Given the description of an element on the screen output the (x, y) to click on. 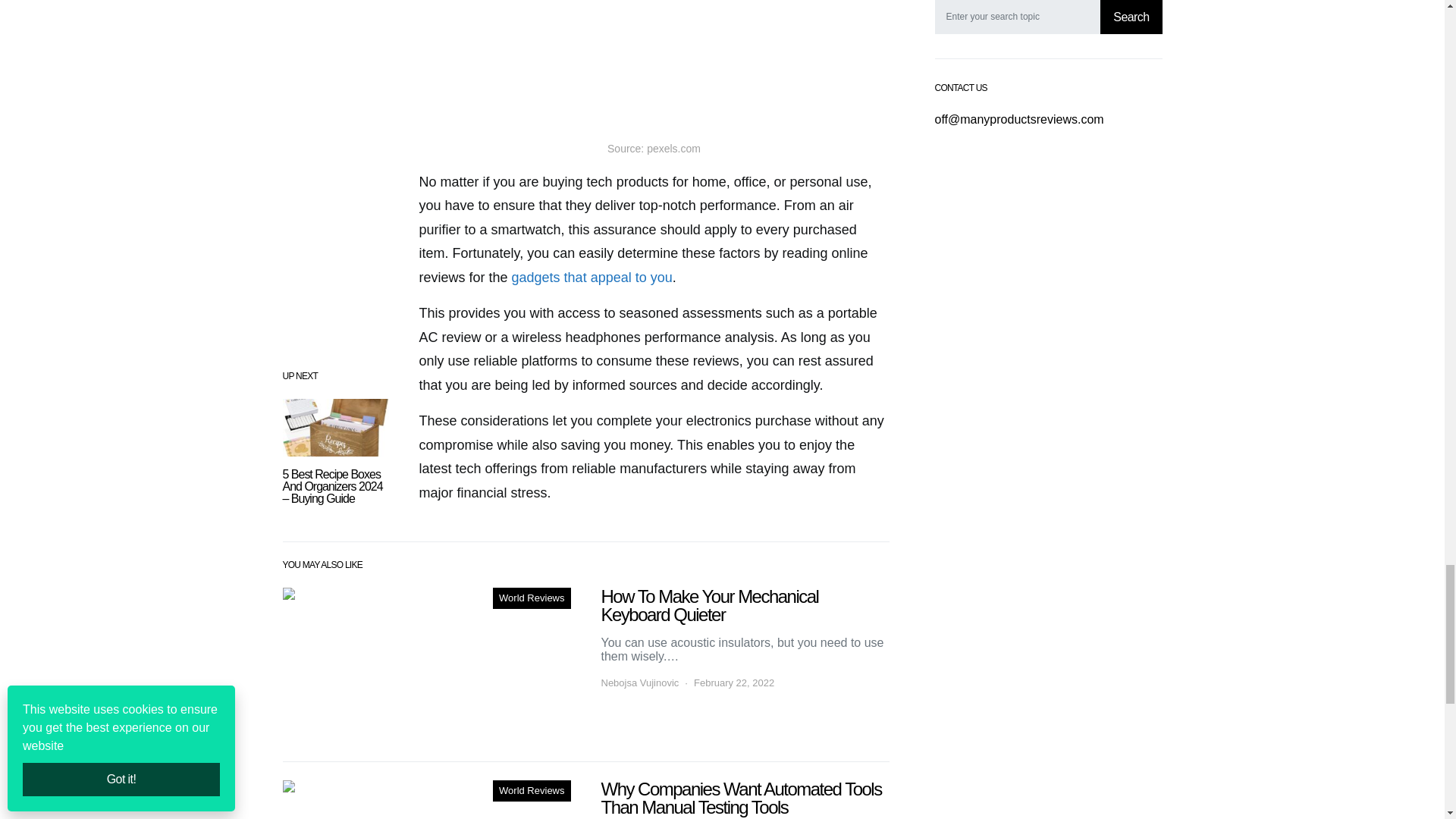
World Reviews (531, 598)
Nebojsa Vujinovic (638, 683)
gadgets that appeal to you (592, 277)
5 Things to Consider When Buying New Tech Products (335, 427)
View all posts by Nebojsa Vujinovic (638, 683)
5 Things to Consider When Buying New Tech Products (426, 665)
5 Things to Consider When Buying New Tech Products (426, 799)
5 Things to Consider When Buying New Tech Products (653, 63)
